Given the description of an element on the screen output the (x, y) to click on. 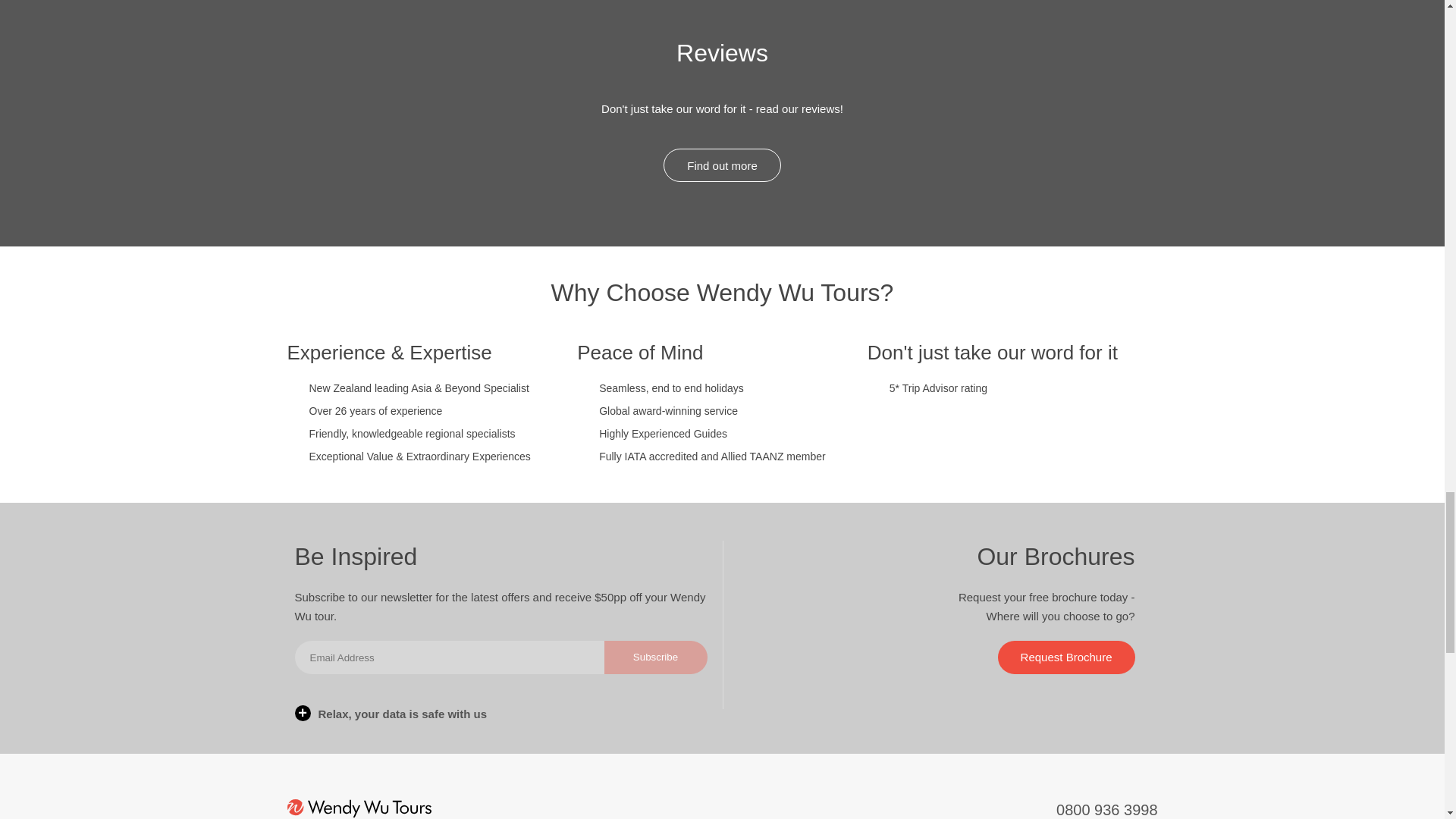
Facebook (672, 809)
